Given the description of an element on the screen output the (x, y) to click on. 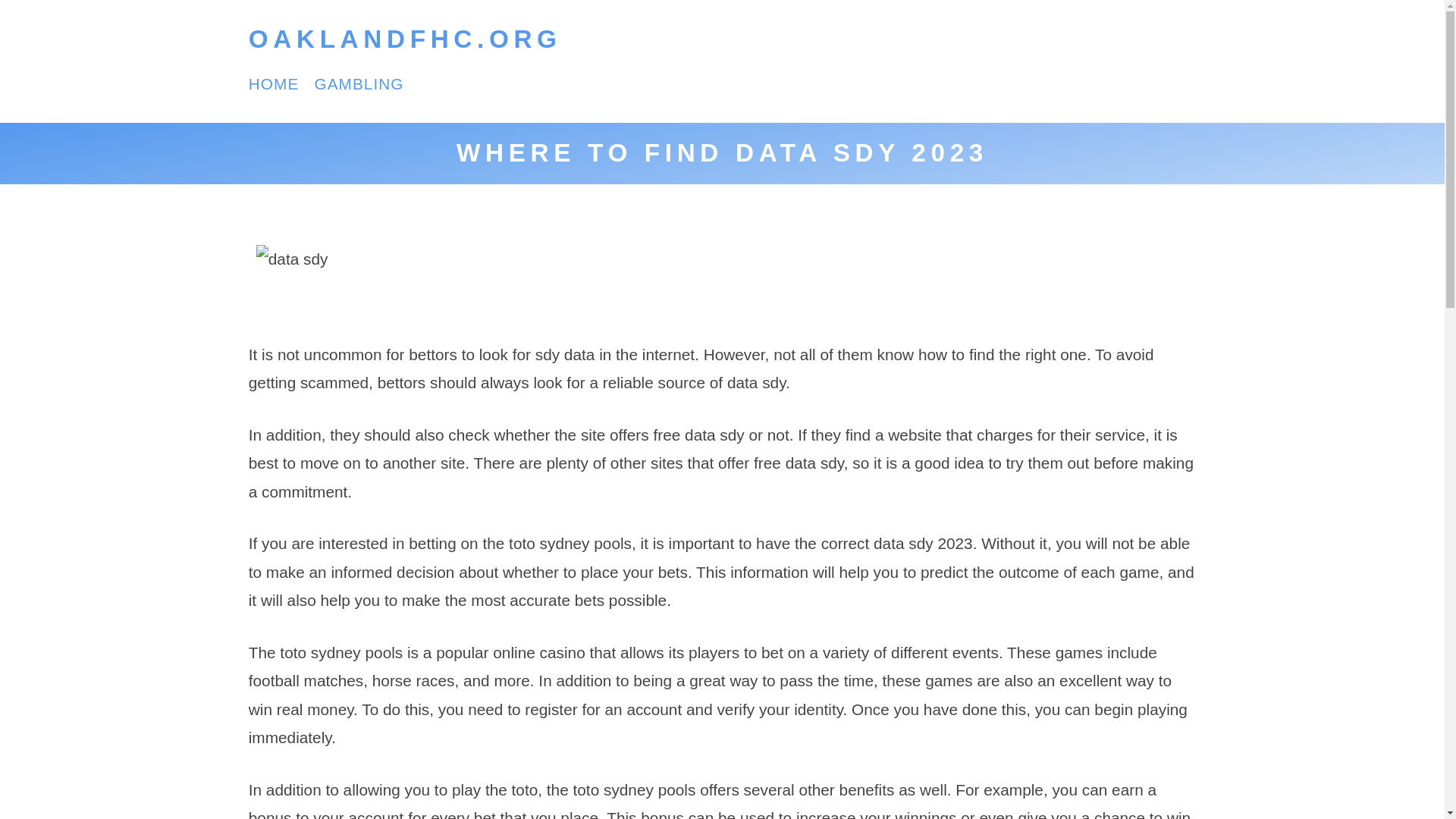
GAMBLING (358, 83)
OAKLANDFHC.ORG (405, 39)
HOME (273, 83)
